Given the description of an element on the screen output the (x, y) to click on. 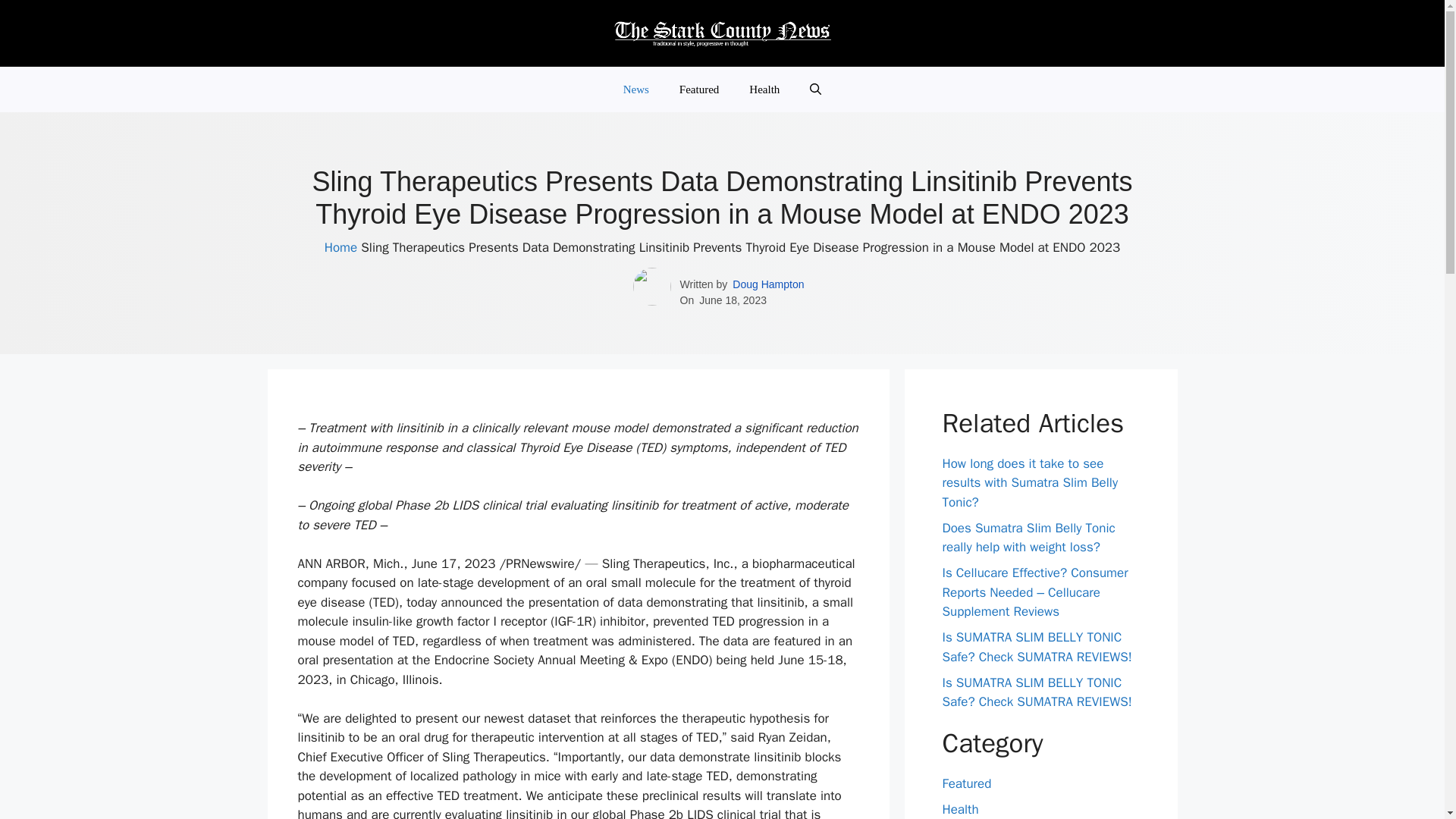
Home (340, 247)
Featured (698, 89)
Health (763, 89)
Featured (966, 783)
Is SUMATRA SLIM BELLY TONIC Safe? Check SUMATRA REVIEWS! (1036, 692)
News (635, 89)
Does Sumatra Slim Belly Tonic really help with weight loss? (1028, 538)
Doug Hampton (767, 284)
Health (960, 809)
